Given the description of an element on the screen output the (x, y) to click on. 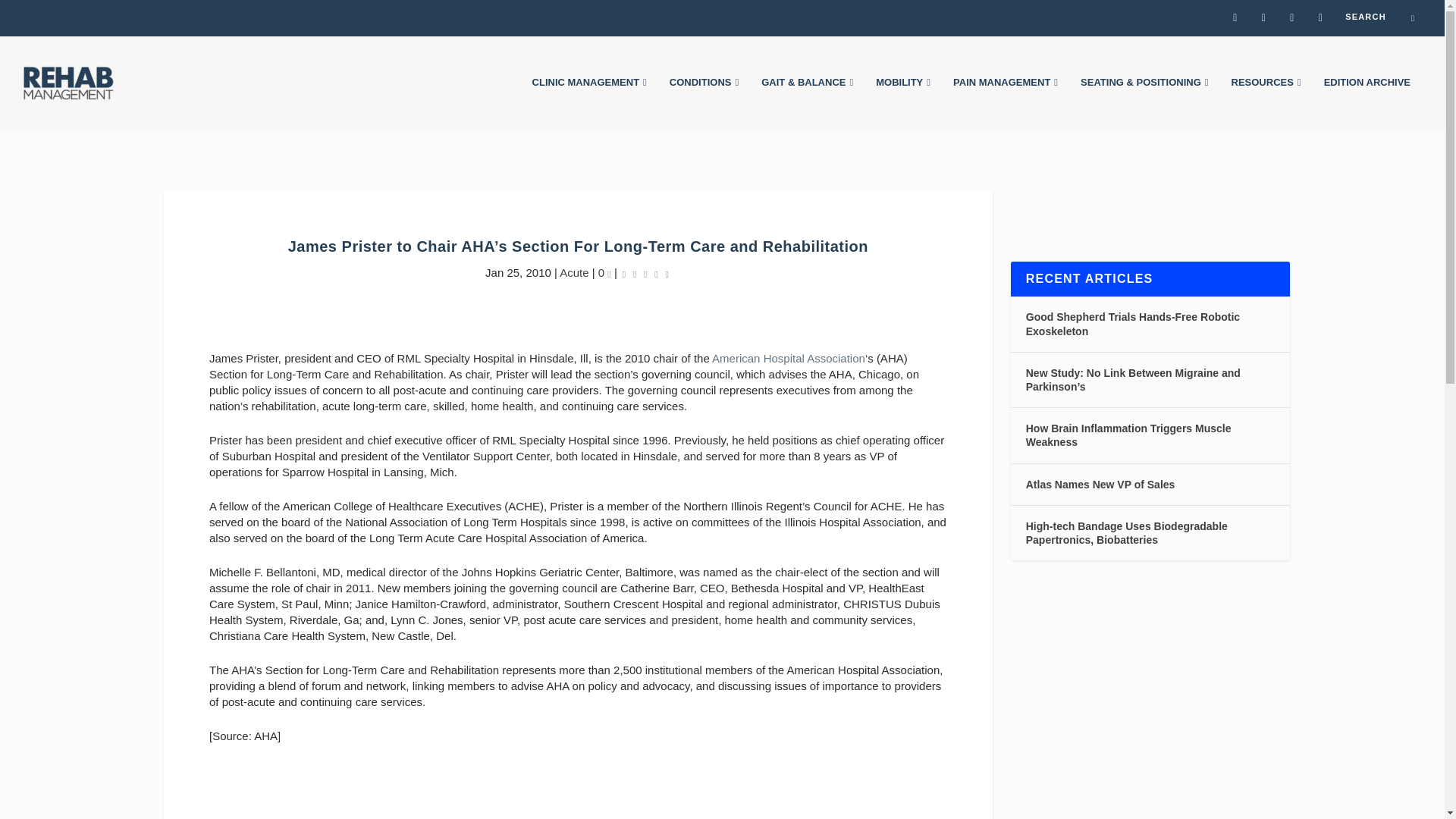
CONDITIONS (703, 102)
Rating: 0.00 (645, 272)
MOBILITY (903, 102)
CLINIC MANAGEMENT (589, 102)
PAIN MANAGEMENT (1005, 102)
Search for: (1380, 16)
